Given the description of an element on the screen output the (x, y) to click on. 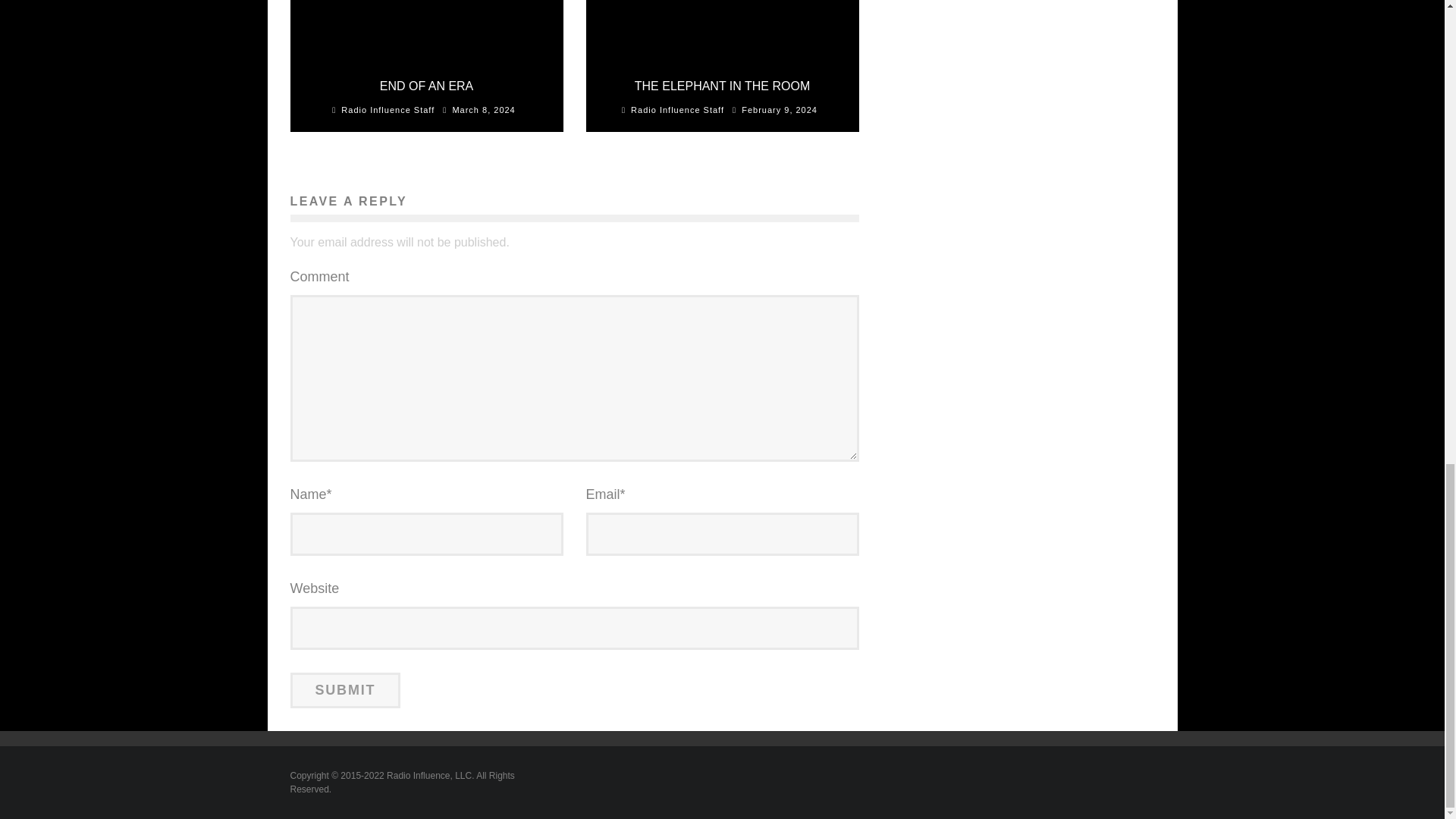
Radio Influence Staff (386, 109)
Submit (344, 689)
END OF AN ERA (427, 85)
Radio Influence Staff (676, 109)
THE ELEPHANT IN THE ROOM (721, 85)
